Given the description of an element on the screen output the (x, y) to click on. 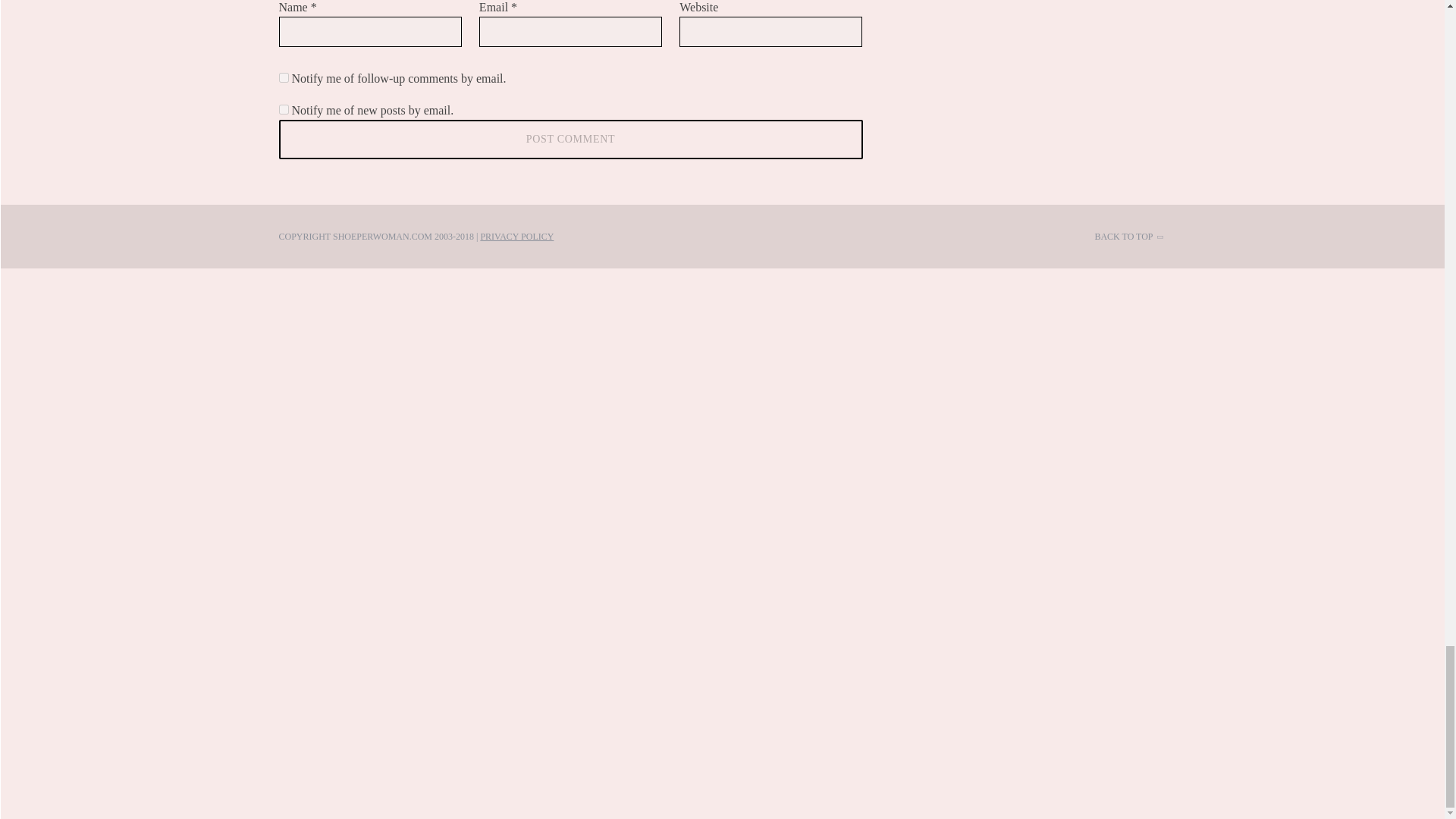
Post Comment (571, 138)
subscribe (283, 77)
subscribe (283, 109)
